Given the description of an element on the screen output the (x, y) to click on. 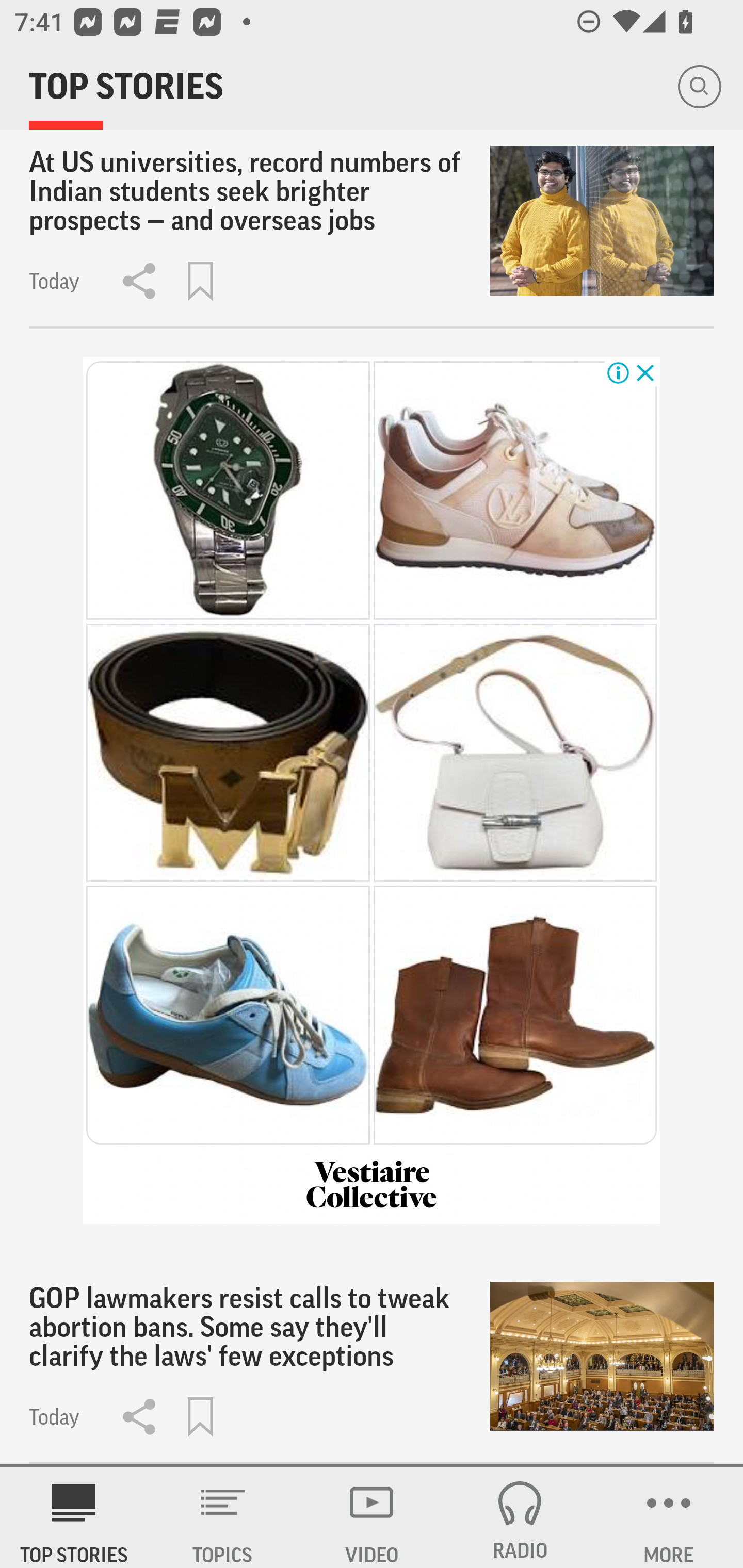
%3Fproduct_id%3D38547587%26setLocale%3D18.en (226, 489)
%3Fproduct_id%3D29140176%26setLocale%3D18.en (515, 489)
%3Fproduct_id%3D41298350%26setLocale%3D18.en (226, 752)
%3Fproduct_id%3D40245959%26setLocale%3D18.en (515, 752)
%3Fproduct_id%3D40586856%26setLocale%3D18.en (226, 1014)
%3Fproduct_id%3D36769820%26setLocale%3D18.en (515, 1014)
%3Fproduct_id%3D38547587%26setLocale%3D18.en (371, 1185)
AP News TOP STORIES (74, 1517)
TOPICS (222, 1517)
VIDEO (371, 1517)
RADIO (519, 1517)
MORE (668, 1517)
